Given the description of an element on the screen output the (x, y) to click on. 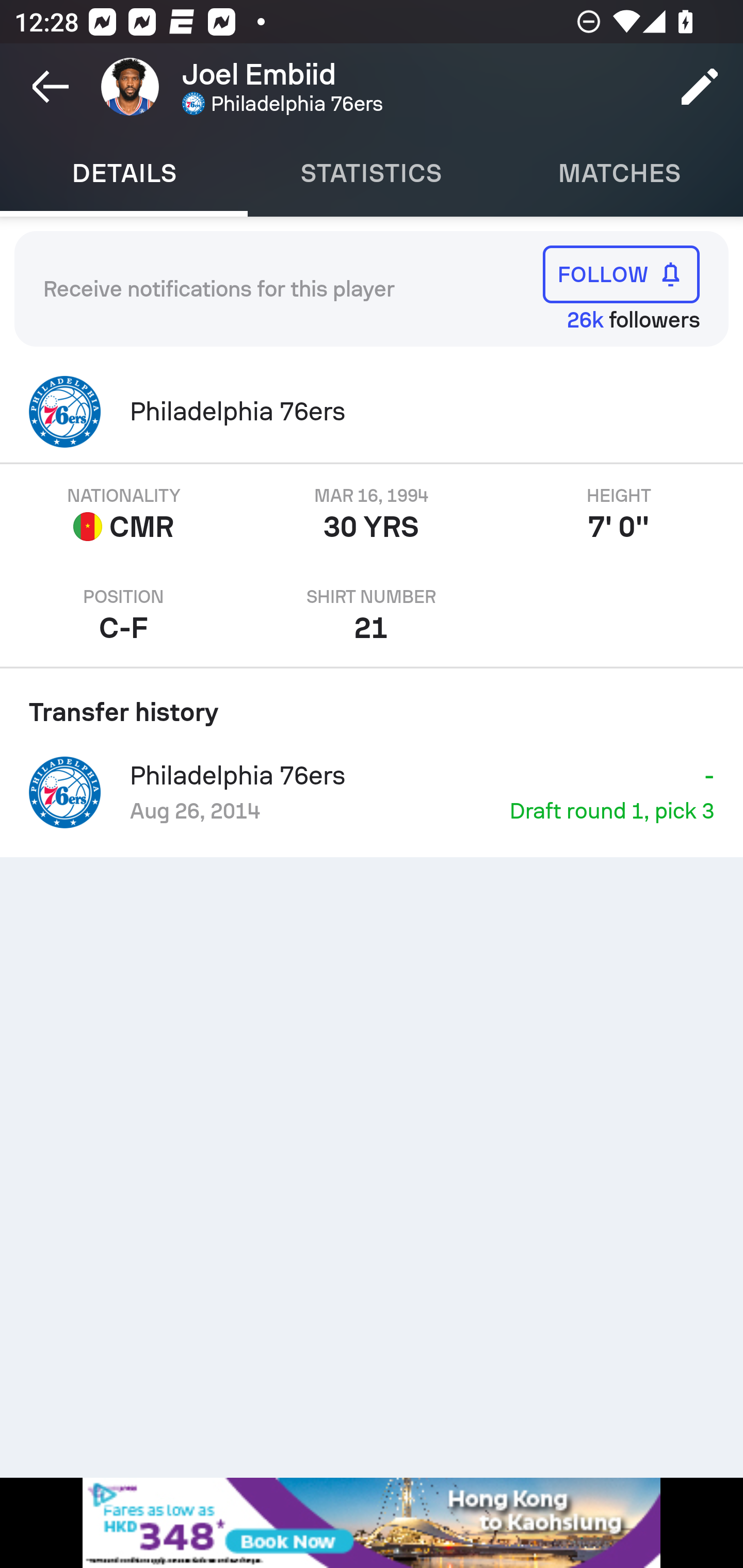
Navigate up (50, 86)
Edit (699, 86)
Statistics STATISTICS (371, 173)
Matches MATCHES (619, 173)
FOLLOW (621, 274)
Philadelphia 76ers (371, 411)
NATIONALITY CMR (123, 515)
POSITION C-F (123, 616)
Transfer history (371, 704)
ijqm75ea_320x50 (371, 1522)
